Given the description of an element on the screen output the (x, y) to click on. 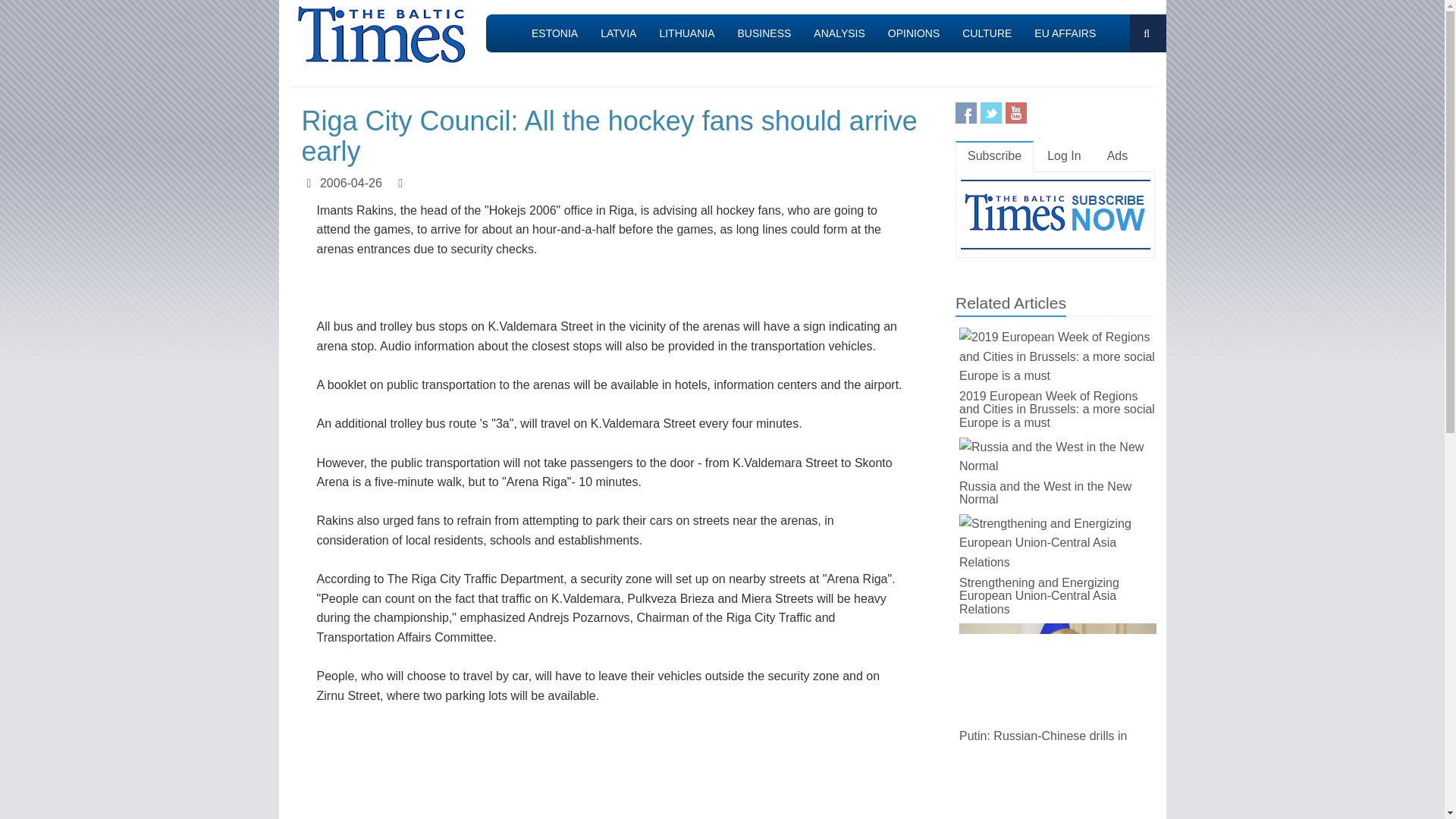
LITHUANIA (686, 33)
OPINIONS (913, 33)
Subscribe (994, 155)
ANALYSIS (839, 33)
ESTONIA (554, 33)
LATVIA (618, 33)
CULTURE (986, 33)
Log In (1064, 155)
BUSINESS (764, 33)
